Given the description of an element on the screen output the (x, y) to click on. 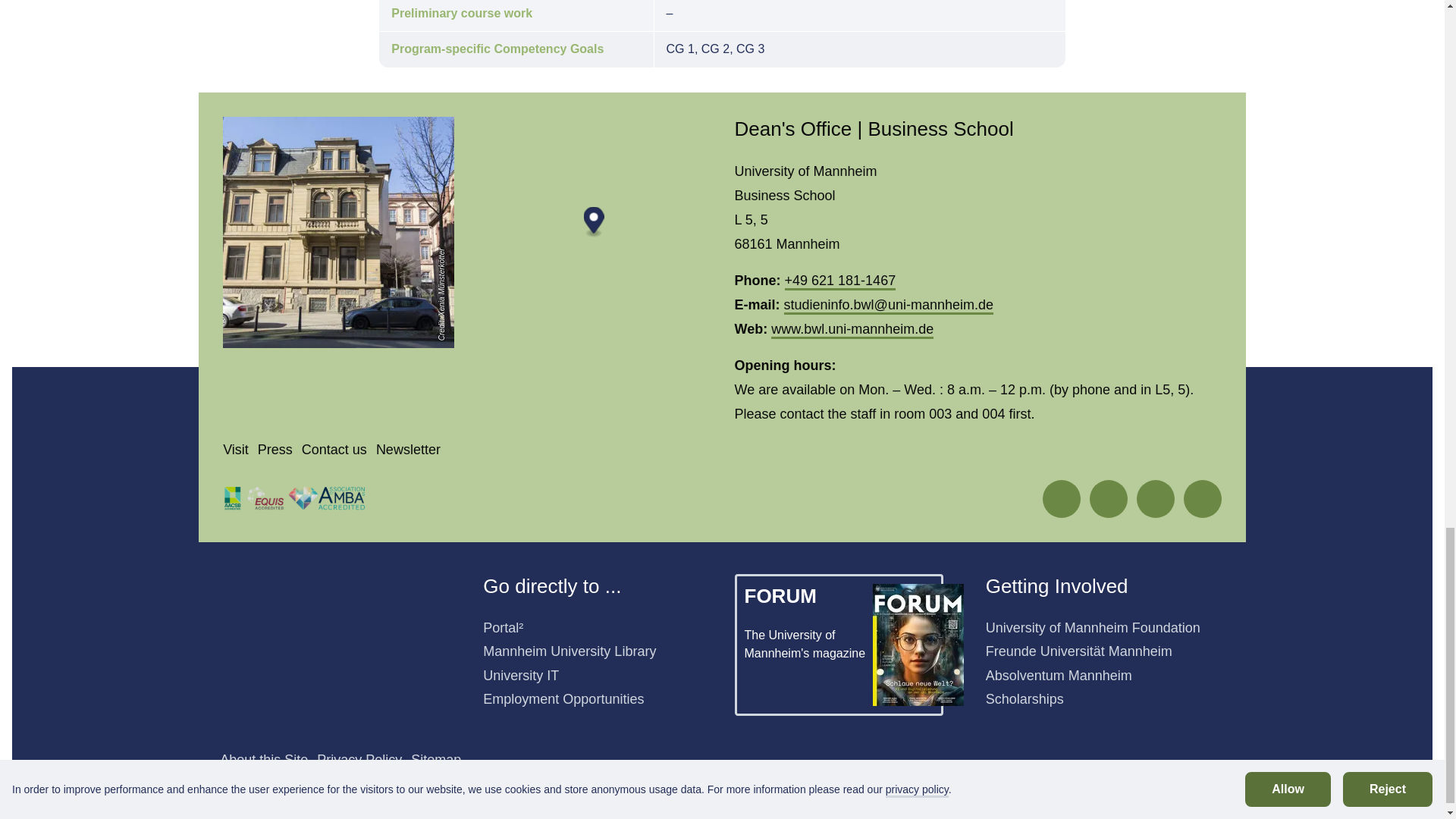
Seal of the University of Mannheim: In omnibus veritas (297, 641)
Linkedin Page (1155, 498)
YouTube Page (1202, 498)
Instagram Page (1108, 498)
